Given the description of an element on the screen output the (x, y) to click on. 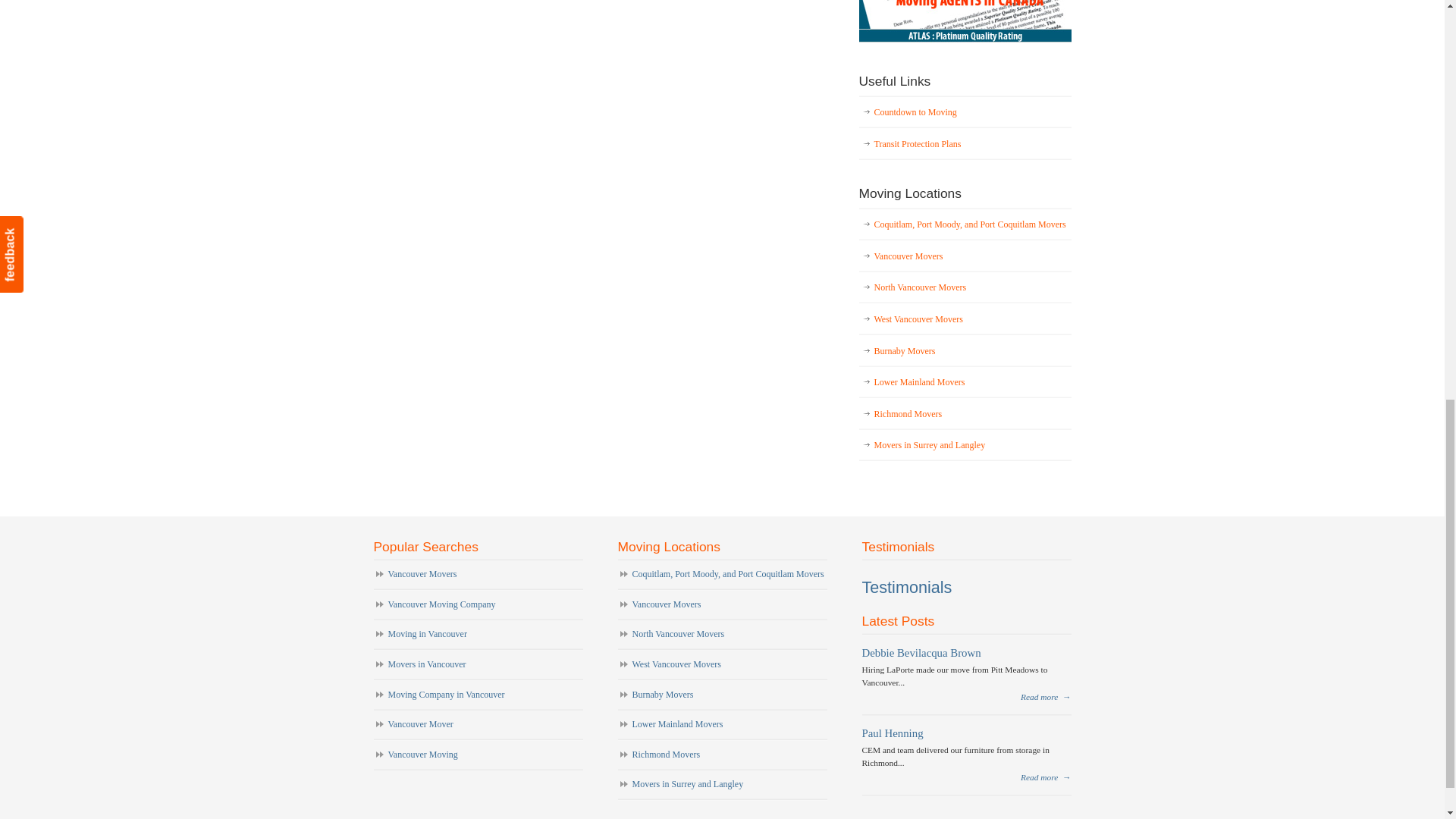
Vancouver Movers (964, 39)
Moving Company in Vancouver (477, 695)
Moving in Vancouver (477, 634)
Vancouver Moving Company (477, 605)
Vancouver Mover (477, 725)
Movers in Vancouver (477, 665)
Vancouver Movers (477, 575)
